Given the description of an element on the screen output the (x, y) to click on. 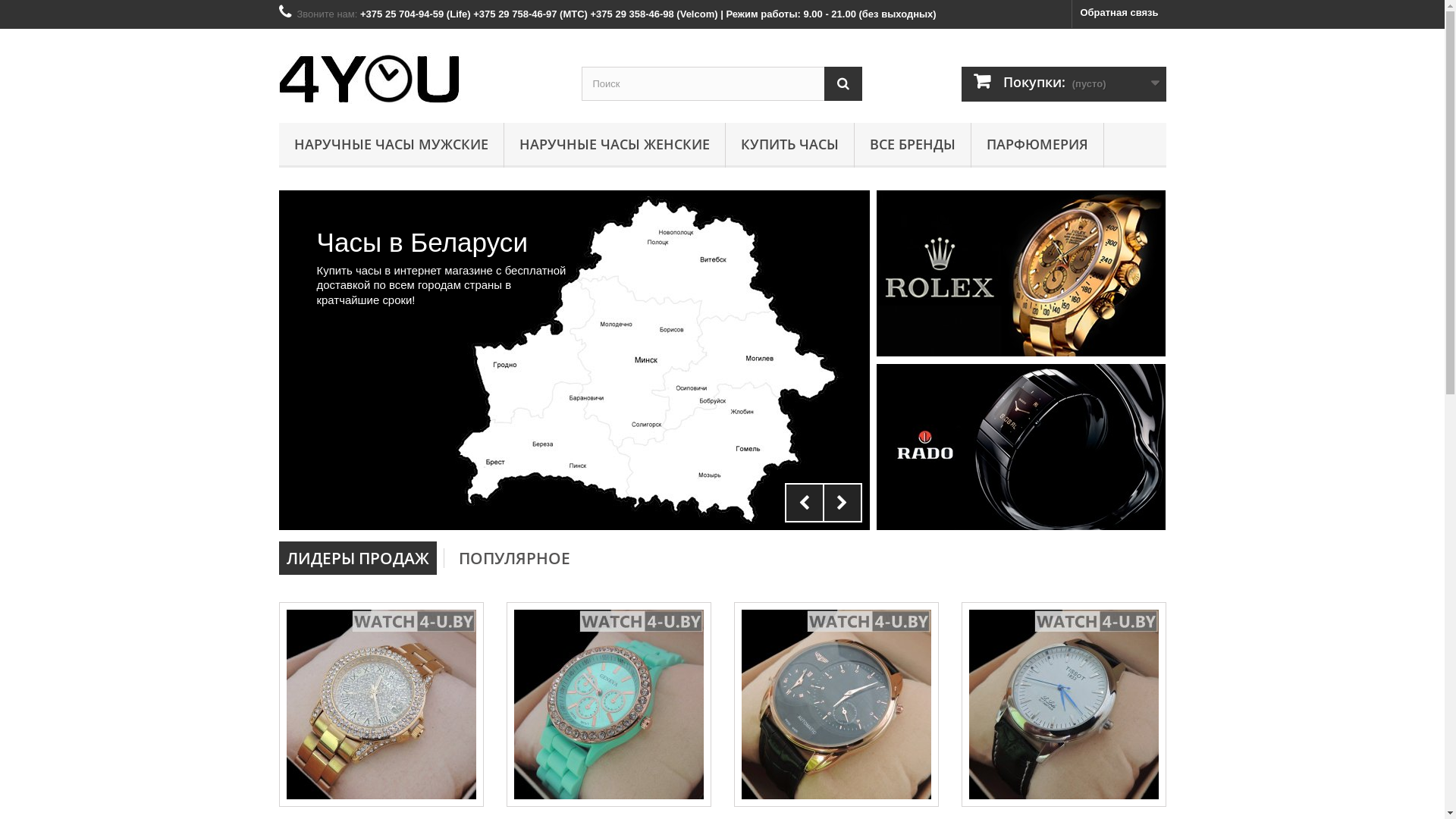
Geneva Brilliant Turquoise Element type: hover (608, 704)
Longines Automatic Black&Gold Element type: hover (836, 704)
Next Element type: text (841, 502)
Rolex Oyster Perpetual Brilliant Gold Element type: hover (381, 704)
Tissot Le Locle Automatique Element type: hover (1063, 704)
Prev Element type: text (803, 502)
watch.4-U.by Element type: hover (419, 71)
